Given the description of an element on the screen output the (x, y) to click on. 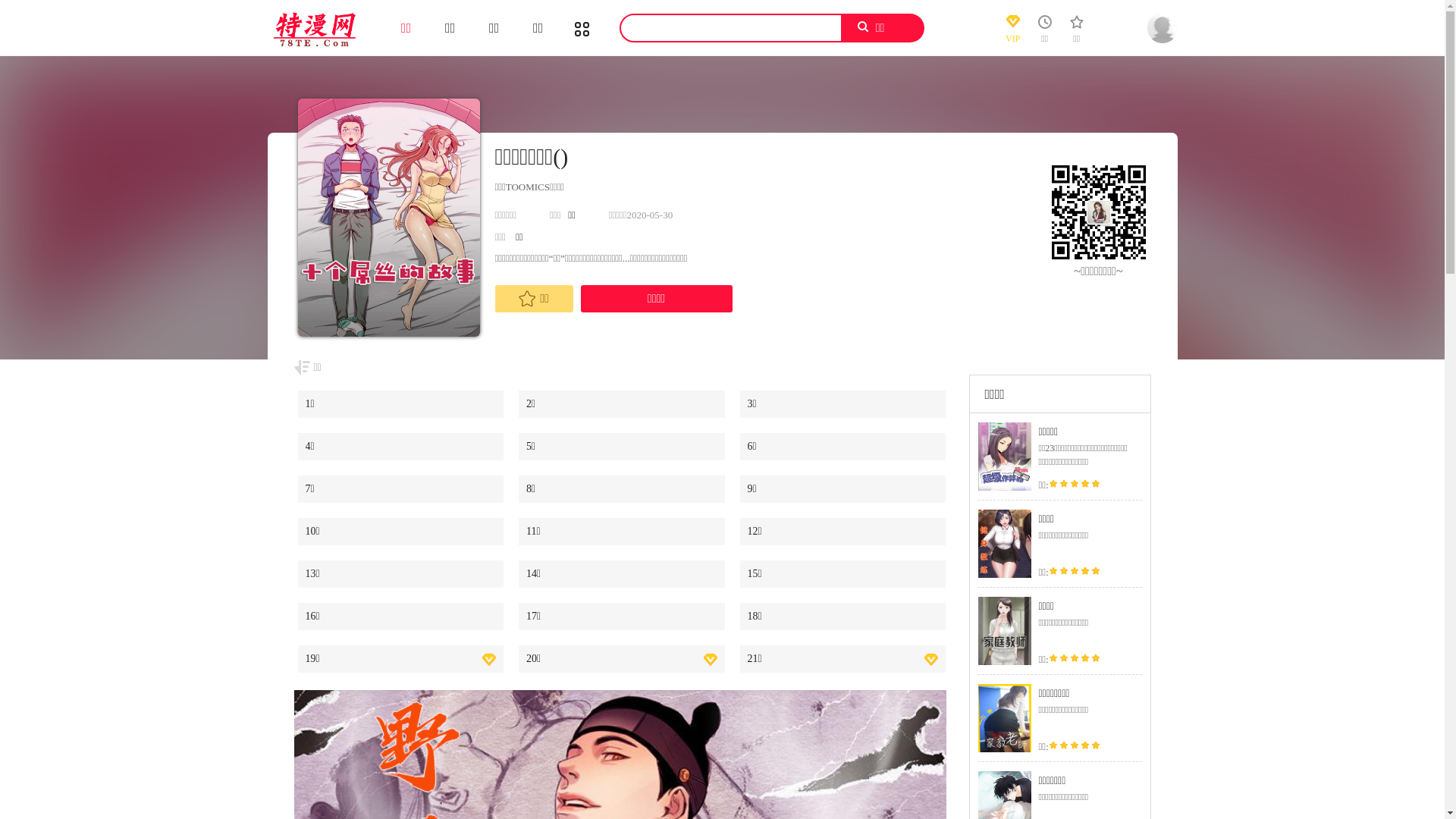
VIP Element type: text (1013, 32)
